Given the description of an element on the screen output the (x, y) to click on. 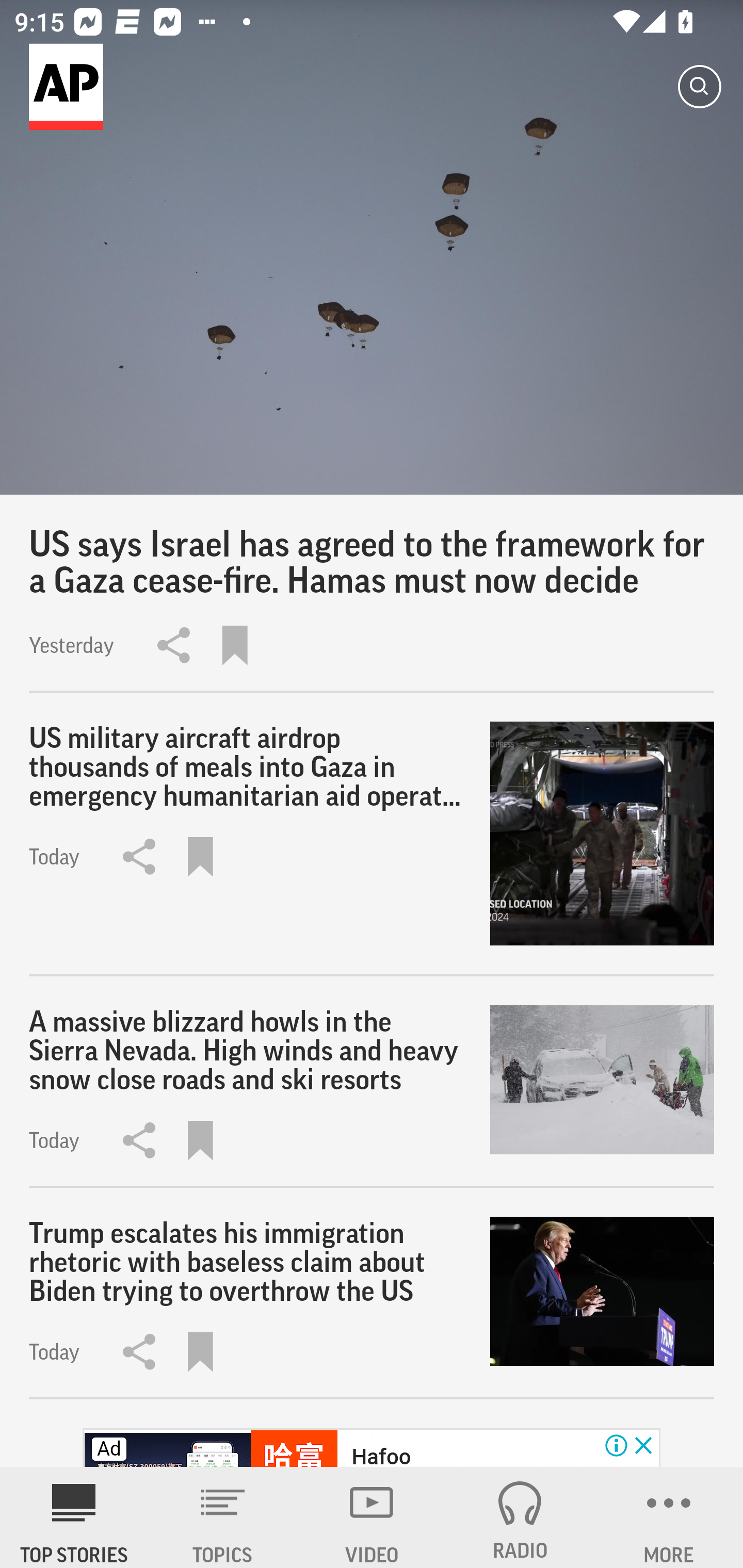
Hafoo (381, 1454)
AP News TOP STORIES (74, 1517)
TOPICS (222, 1517)
VIDEO (371, 1517)
RADIO (519, 1517)
MORE (668, 1517)
